Given the description of an element on the screen output the (x, y) to click on. 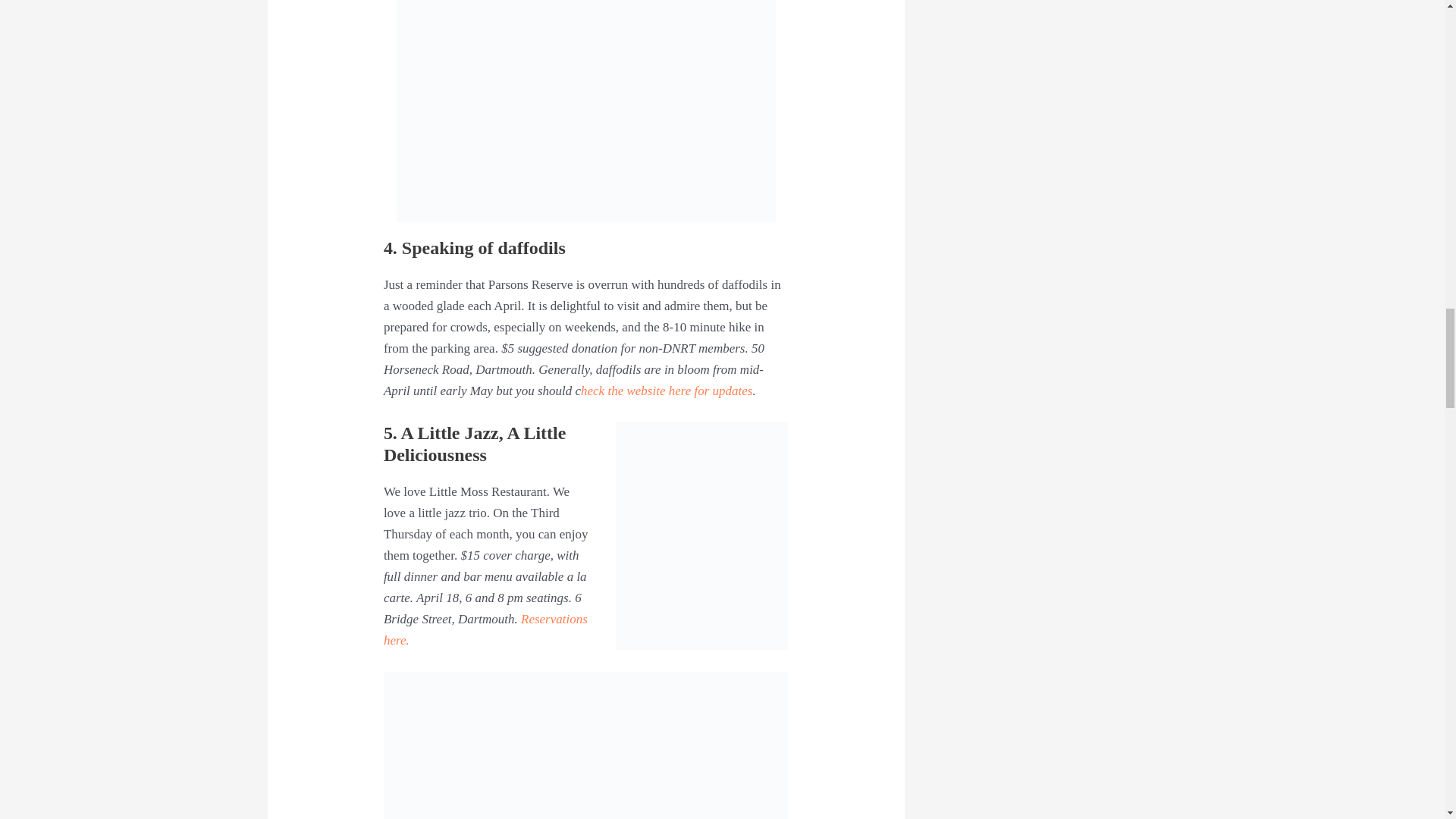
heck the website here for updates (666, 391)
Reservations here. (486, 629)
